Given the description of an element on the screen output the (x, y) to click on. 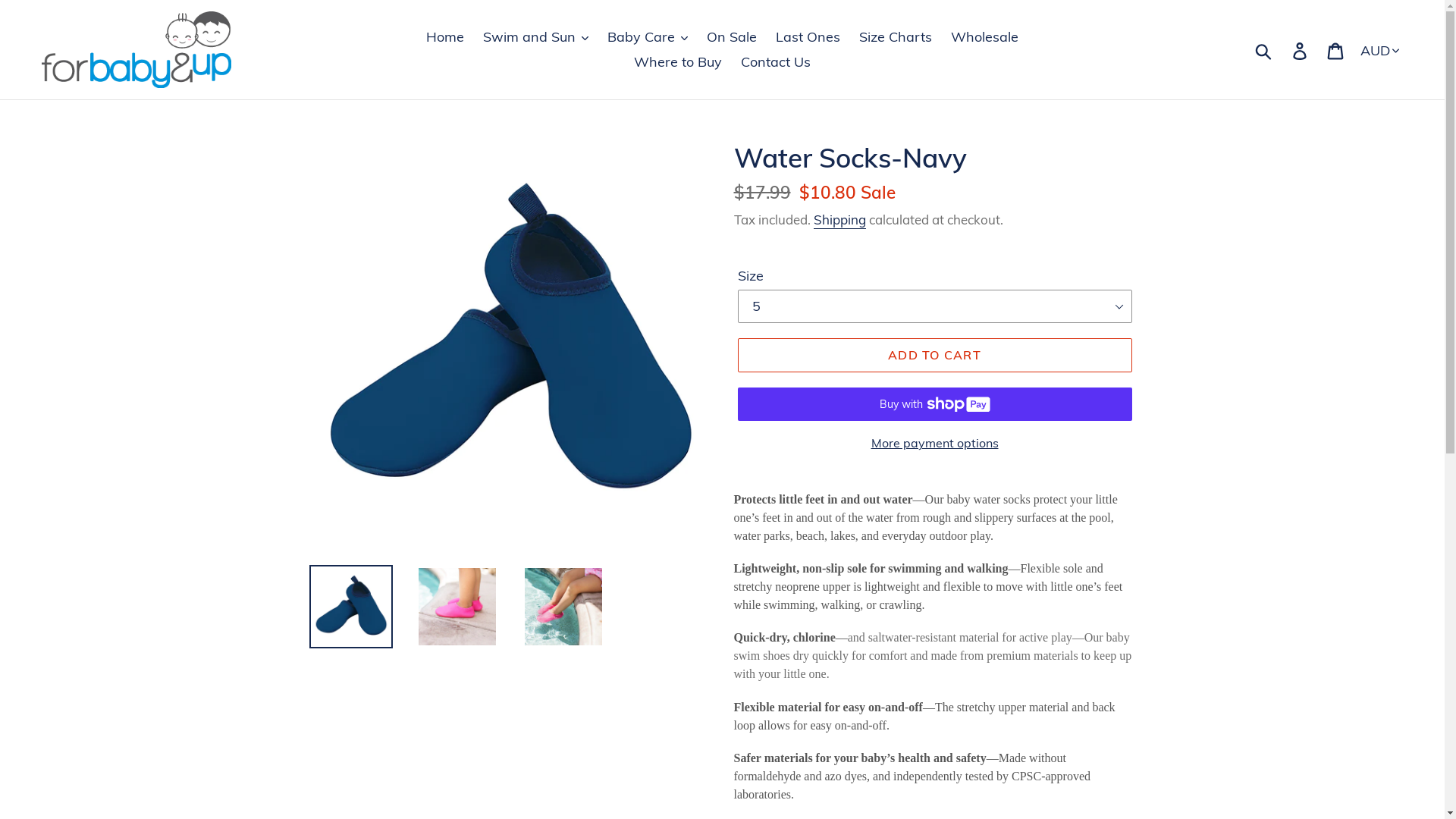
Size Charts Element type: text (895, 36)
Wholesale Element type: text (984, 36)
ADD TO CART Element type: text (934, 354)
Where to Buy Element type: text (677, 61)
Submit Element type: text (1264, 48)
Home Element type: text (444, 36)
Contact Us Element type: text (775, 61)
Log in Element type: text (1300, 49)
On Sale Element type: text (731, 36)
Last Ones Element type: text (807, 36)
More payment options Element type: text (934, 442)
Shipping Element type: text (838, 220)
Cart Element type: text (1336, 49)
